Given the description of an element on the screen output the (x, y) to click on. 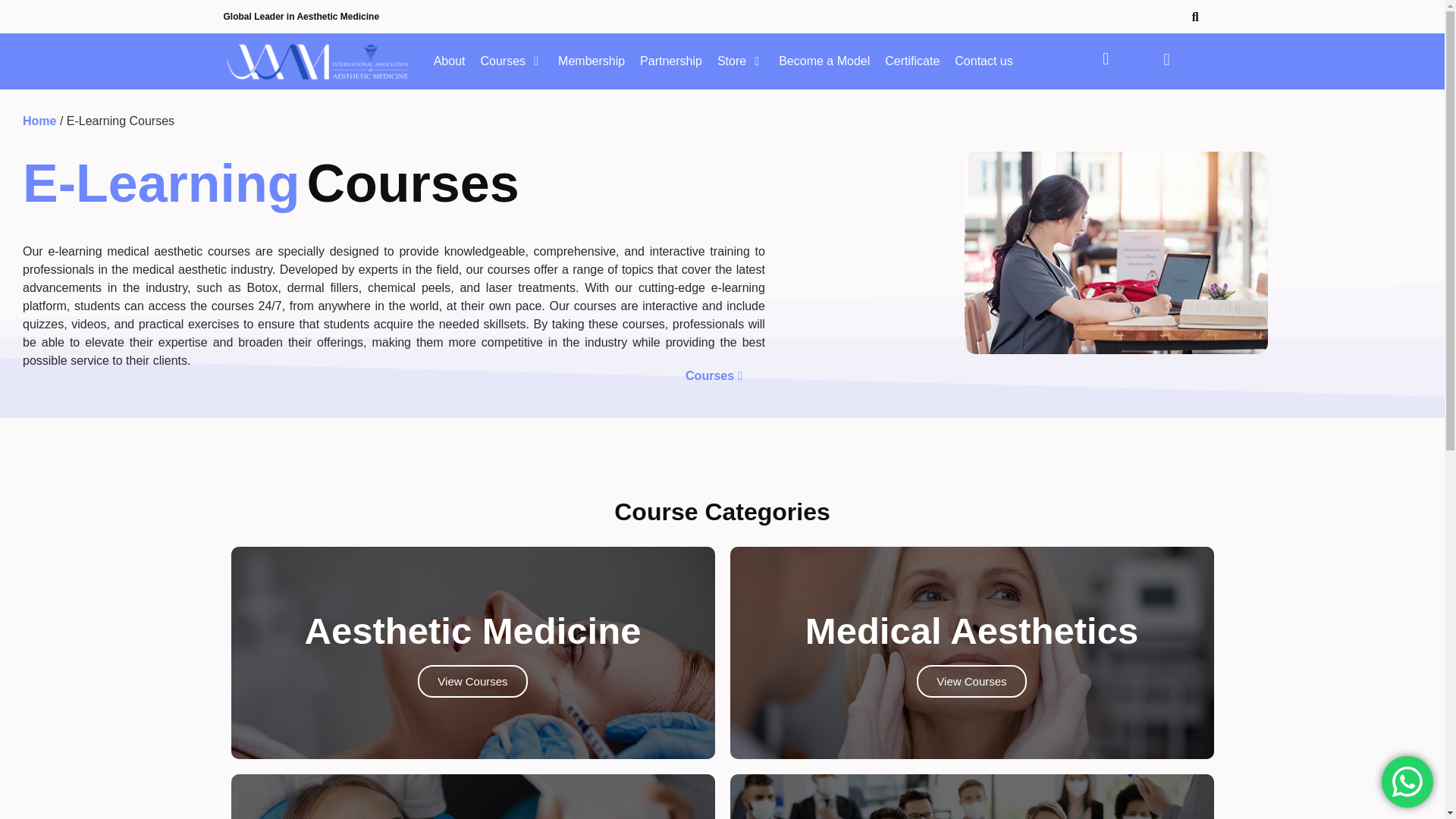
Home (39, 120)
View Courses (472, 681)
Become a Model (823, 61)
Courses (713, 375)
Courses (502, 61)
Certificate (912, 61)
WhatsApp us (1406, 781)
Store (731, 61)
View Courses (971, 681)
About (449, 61)
Contact us (983, 61)
Membership (590, 61)
Partnership (670, 61)
